Given the description of an element on the screen output the (x, y) to click on. 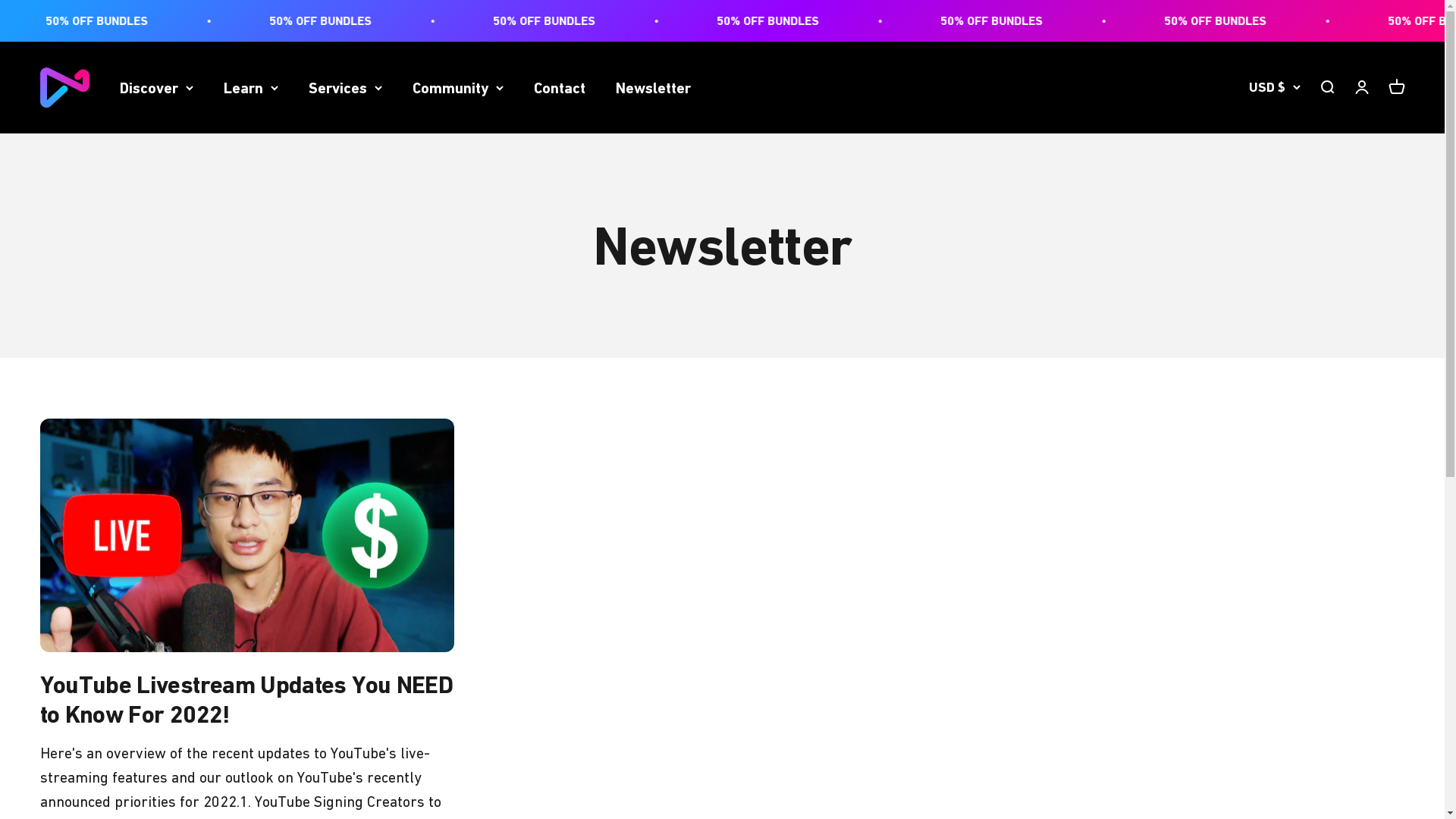
Open cart
0 Element type: text (1395, 87)
50% OFF BUNDLES Element type: text (341, 20)
Always Creating Element type: text (63, 87)
Contact Element type: text (559, 87)
Newsletter Element type: text (652, 87)
50% OFF BUNDLES Element type: text (1227, 20)
Open account page Element type: text (1360, 87)
USD $ Element type: text (1273, 87)
50% OFF BUNDLES Element type: text (562, 20)
50% OFF BUNDLES Element type: text (785, 20)
50% OFF BUNDLES Element type: text (1006, 20)
Open search Element type: text (1325, 87)
YouTube Livestream Updates You NEED to Know For 2022! Element type: text (245, 699)
50% OFF BUNDLES Element type: text (120, 20)
